Given the description of an element on the screen output the (x, y) to click on. 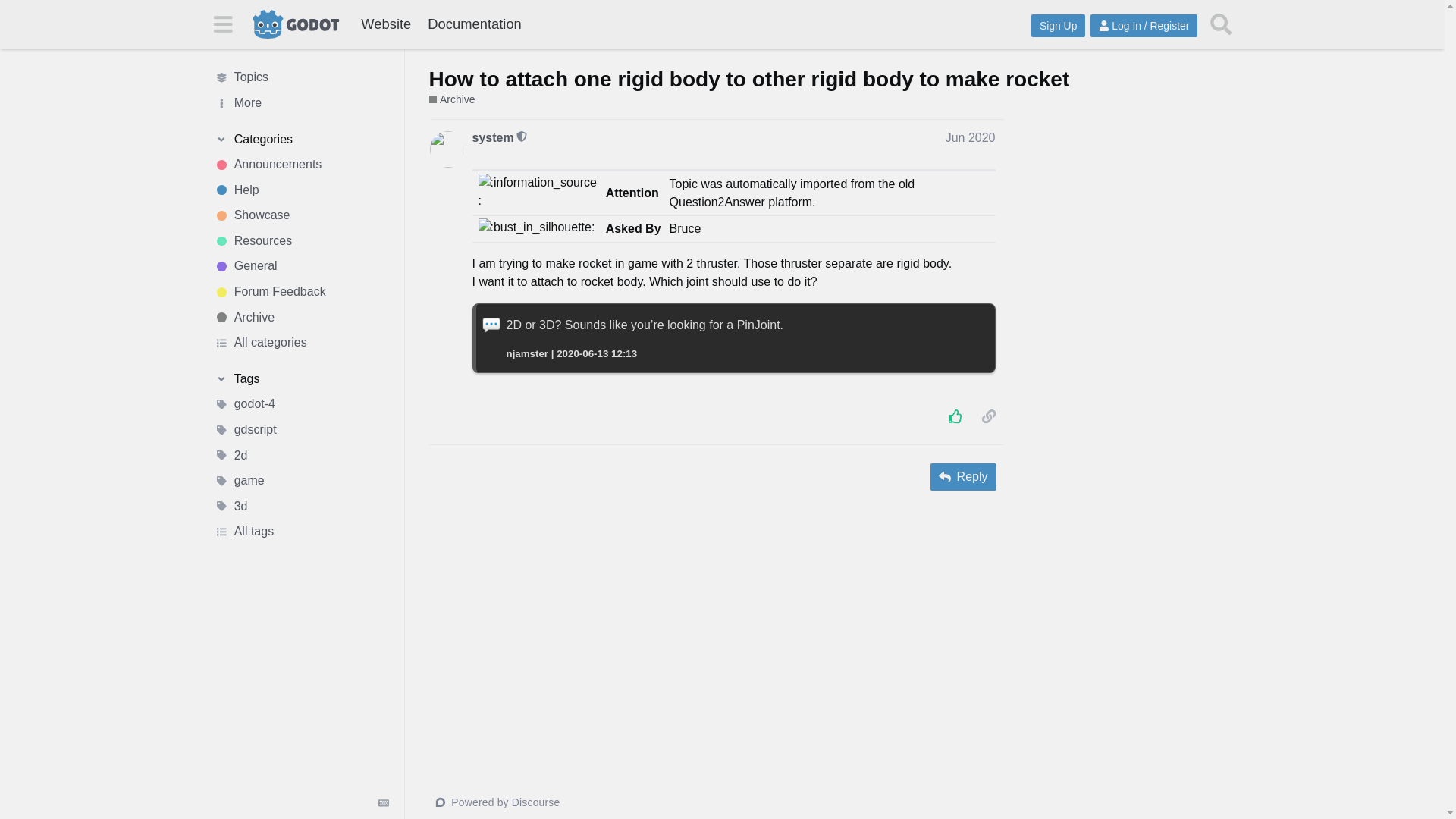
Showcase (301, 216)
Topics (301, 77)
All tags (301, 532)
All categories (301, 343)
Resources (301, 240)
Sidebar (222, 23)
Sign Up (1057, 25)
All topics (301, 77)
Archive (301, 317)
